Given the description of an element on the screen output the (x, y) to click on. 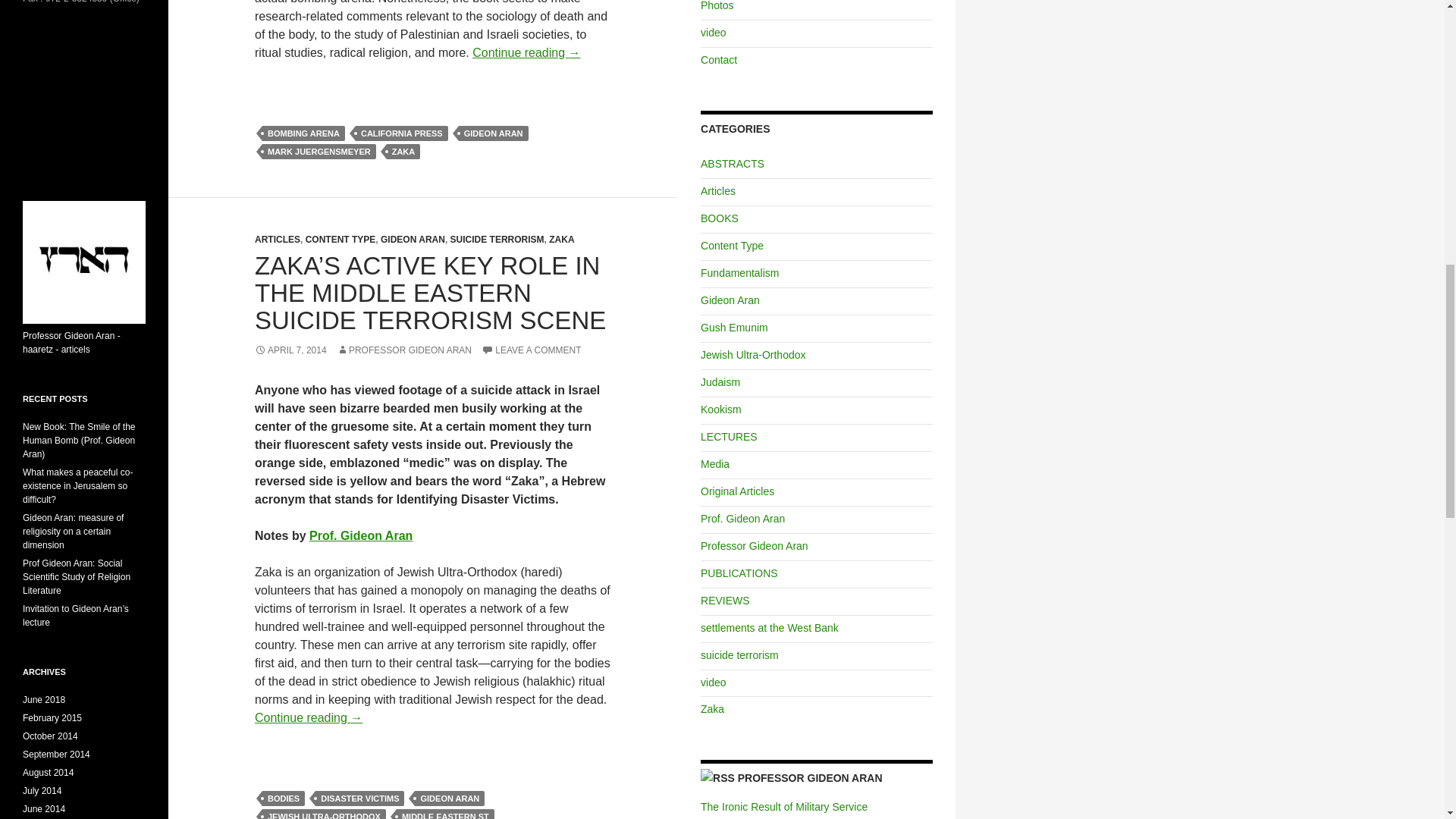
PROFESSOR GIDEON ARAN (403, 349)
SUICIDE TERRORISM (496, 239)
ARTICLES (276, 239)
GIDEON ARAN (412, 239)
BOMBING ARENA (303, 133)
CALIFORNIA PRESS (401, 133)
ZAKA (403, 151)
LEAVE A COMMENT (530, 349)
CONTENT TYPE (340, 239)
APRIL 7, 2014 (290, 349)
Prof. Gideon Aran (360, 535)
ZAKA (560, 239)
Gideon Aran - haaretz - articels (71, 342)
GIDEON ARAN (493, 133)
MARK JUERGENSMEYER (318, 151)
